Given the description of an element on the screen output the (x, y) to click on. 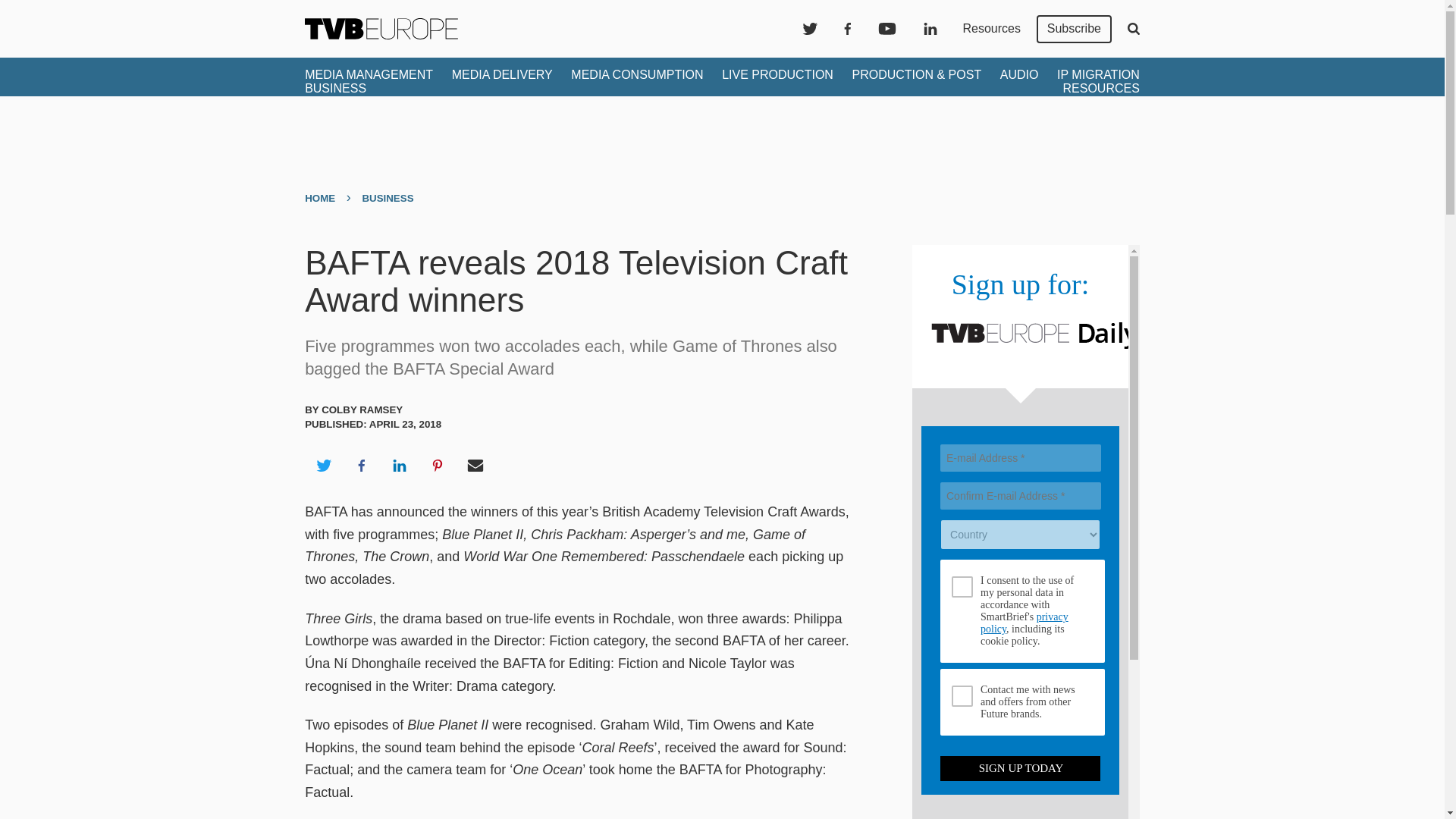
Share on LinkedIn (399, 465)
Share on Facebook (361, 465)
Share on Twitter (323, 465)
Share on Pinterest (438, 465)
Share via Email (476, 465)
Colby Ramsey's Author Profile (362, 409)
